Given the description of an element on the screen output the (x, y) to click on. 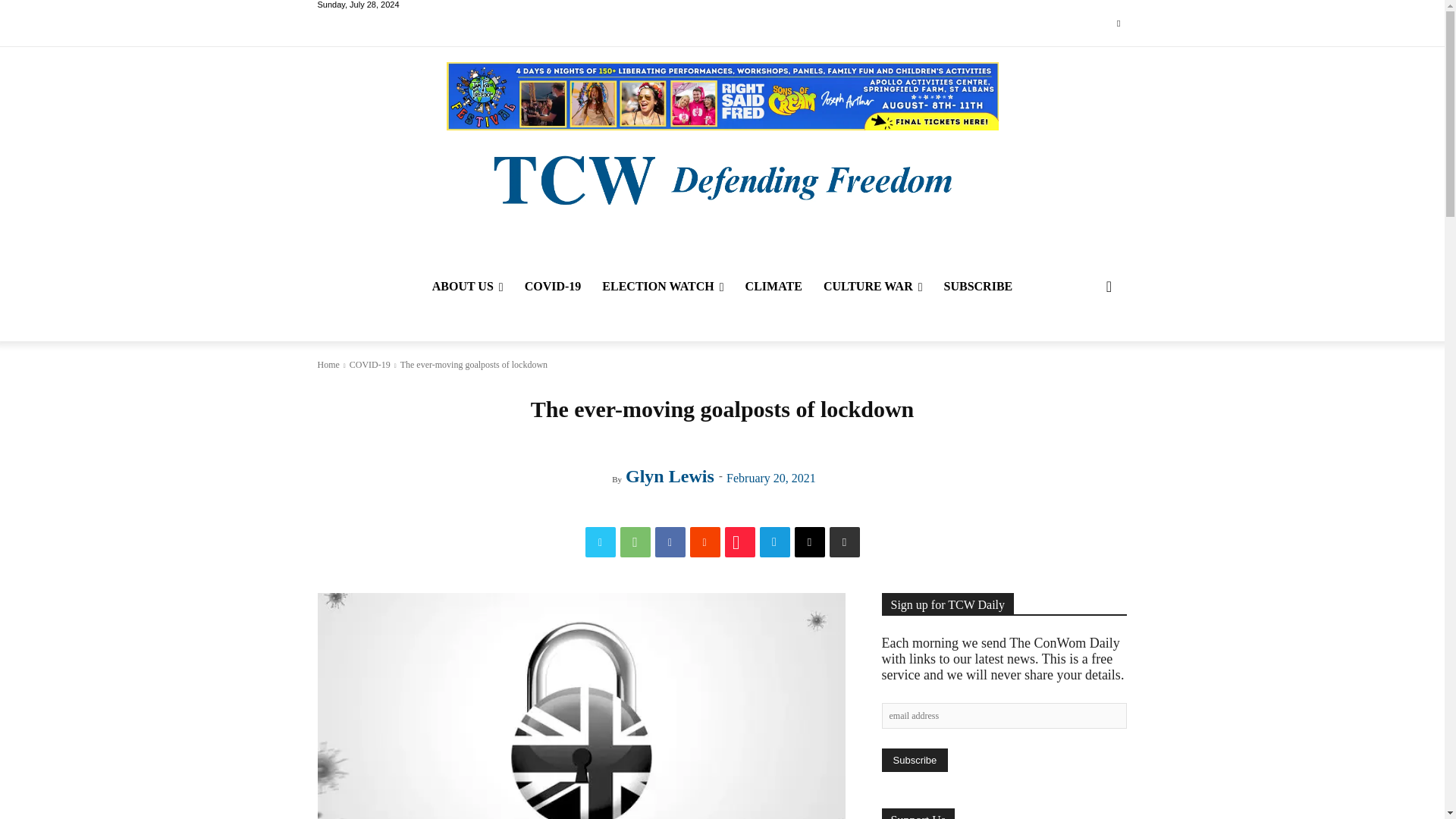
WhatsApp (635, 542)
CLIMATE (773, 286)
COVID-19 (552, 286)
Twitter (600, 542)
The Conservative Woman (721, 178)
View all posts in COVID-19 (369, 364)
Subscribe (913, 760)
Facebook (670, 542)
Twitter (1117, 23)
ELECTION WATCH (662, 286)
ABOUT US (467, 286)
